Given the description of an element on the screen output the (x, y) to click on. 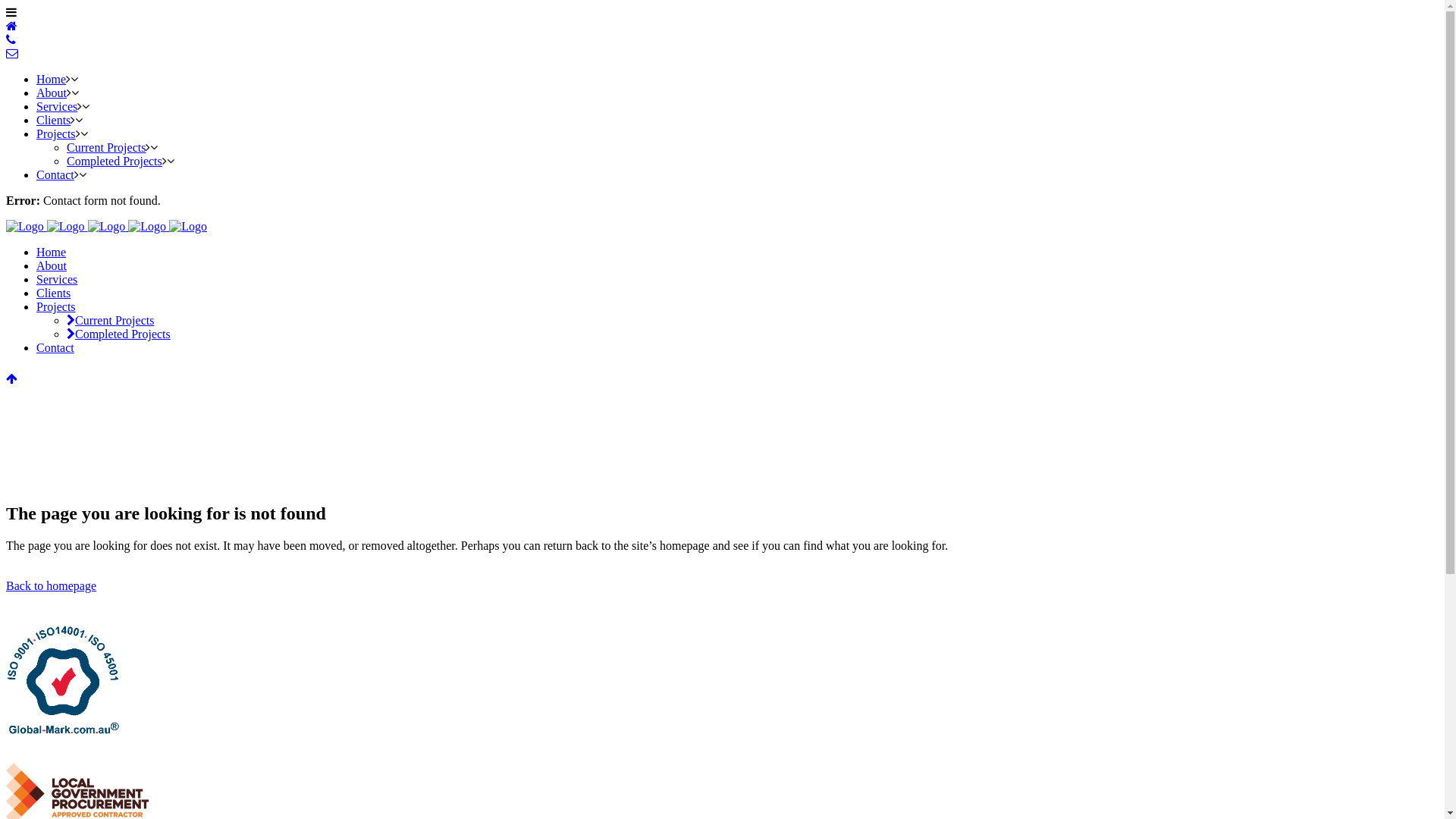
Contact Element type: text (55, 174)
Services Element type: text (56, 106)
Home Element type: text (50, 78)
Projects Element type: text (55, 133)
Current Projects Element type: text (105, 147)
Completed Projects Element type: text (118, 333)
Back to homepage Element type: text (51, 585)
Clients Element type: text (53, 292)
Current Projects Element type: text (109, 319)
Projects Element type: text (55, 306)
Completed Projects Element type: text (114, 160)
Contact Element type: text (55, 347)
About Element type: text (51, 265)
Home Element type: text (50, 251)
About Element type: text (51, 92)
Services Element type: text (56, 279)
Clients Element type: text (53, 119)
